Given the description of an element on the screen output the (x, y) to click on. 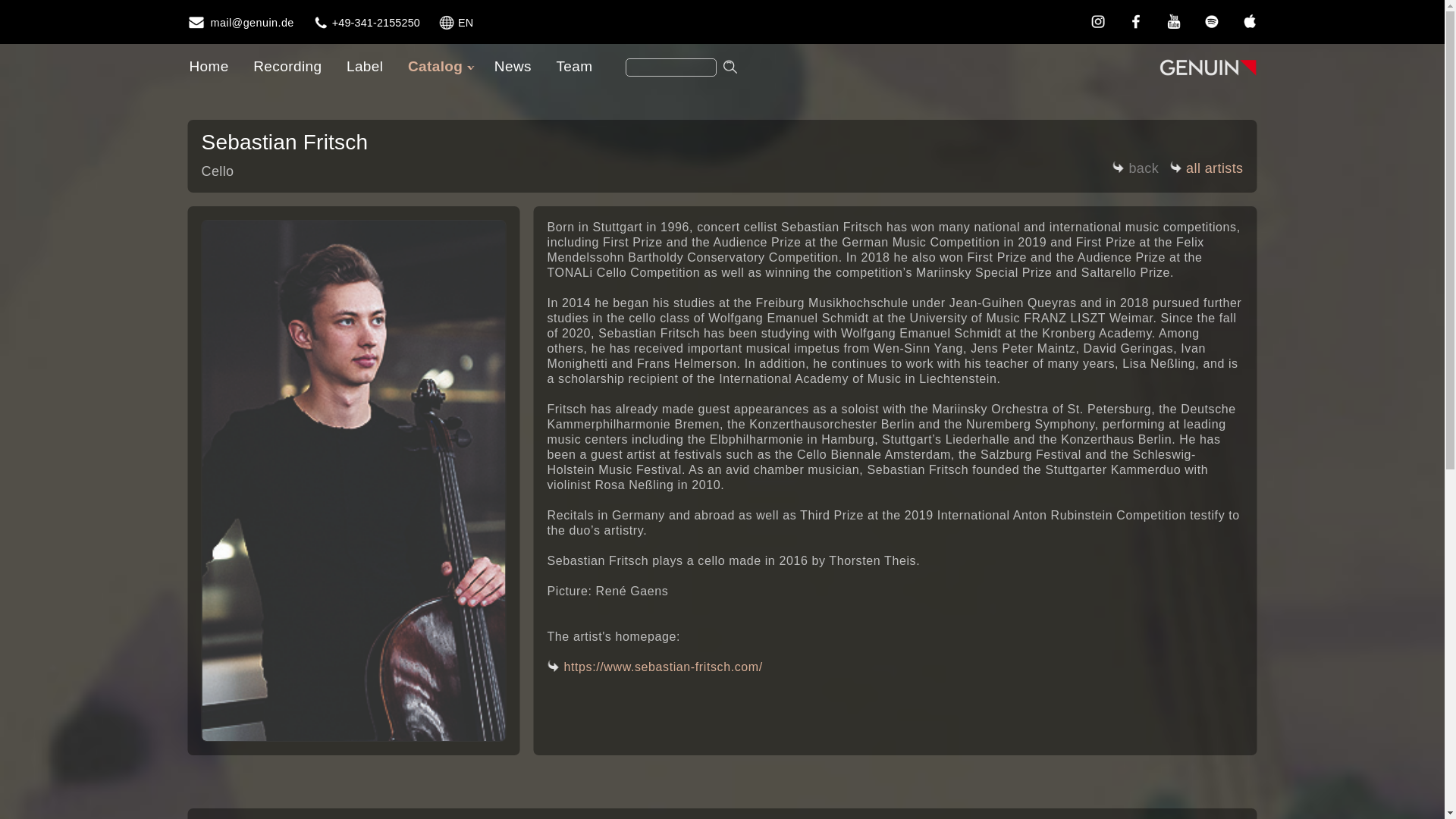
EN (455, 22)
Team (573, 66)
Call GENUIN  (366, 22)
Catalog (438, 66)
YouTube (1173, 21)
back (1135, 169)
Spotify (1211, 21)
Recording (287, 66)
Send e-mail (240, 22)
Instagram (1097, 21)
Home (208, 66)
Label (364, 66)
Facebook (1135, 21)
Apple Music (1248, 21)
